Given the description of an element on the screen output the (x, y) to click on. 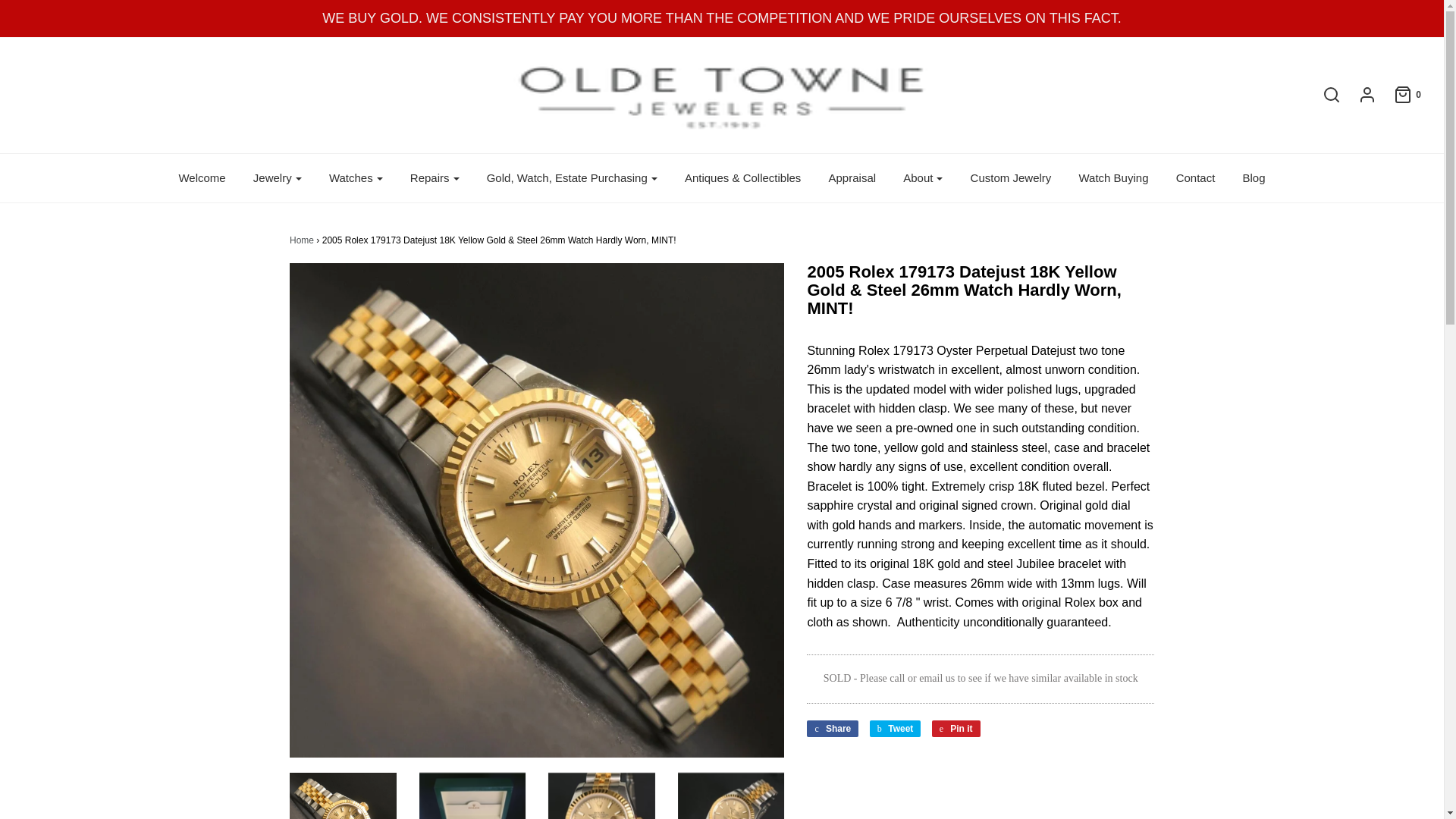
Search (1323, 94)
Cart (1399, 94)
Log in (1358, 94)
Search (1101, 5)
Back to the frontpage (301, 240)
